Given the description of an element on the screen output the (x, y) to click on. 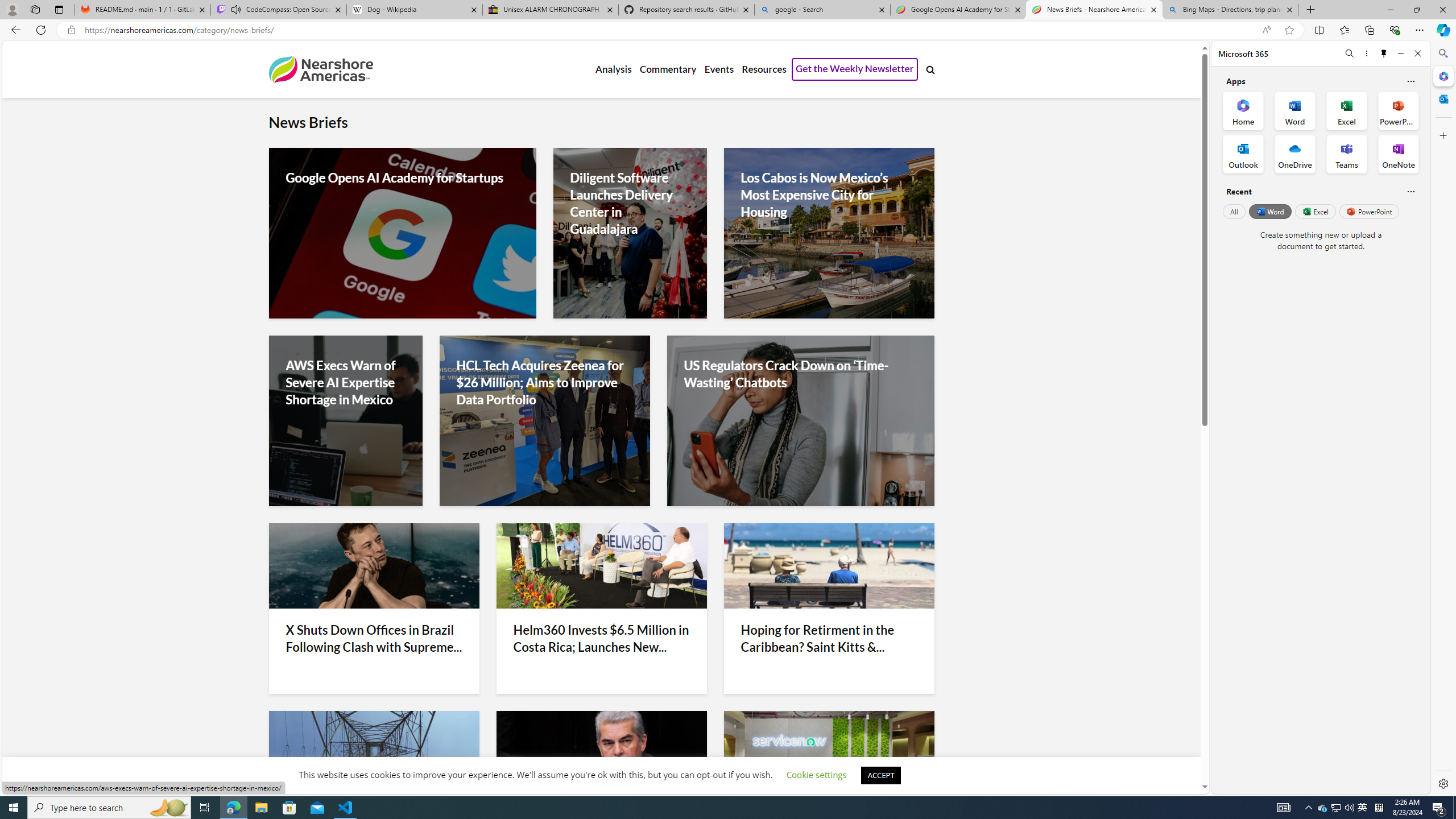
Events (718, 69)
Excel (1315, 210)
Word Office App (1295, 110)
Excel Office App (1346, 110)
PowerPoint Office App (1398, 110)
Is this helpful? (1410, 191)
Get the Weekly Newsletter (854, 69)
